Given the description of an element on the screen output the (x, y) to click on. 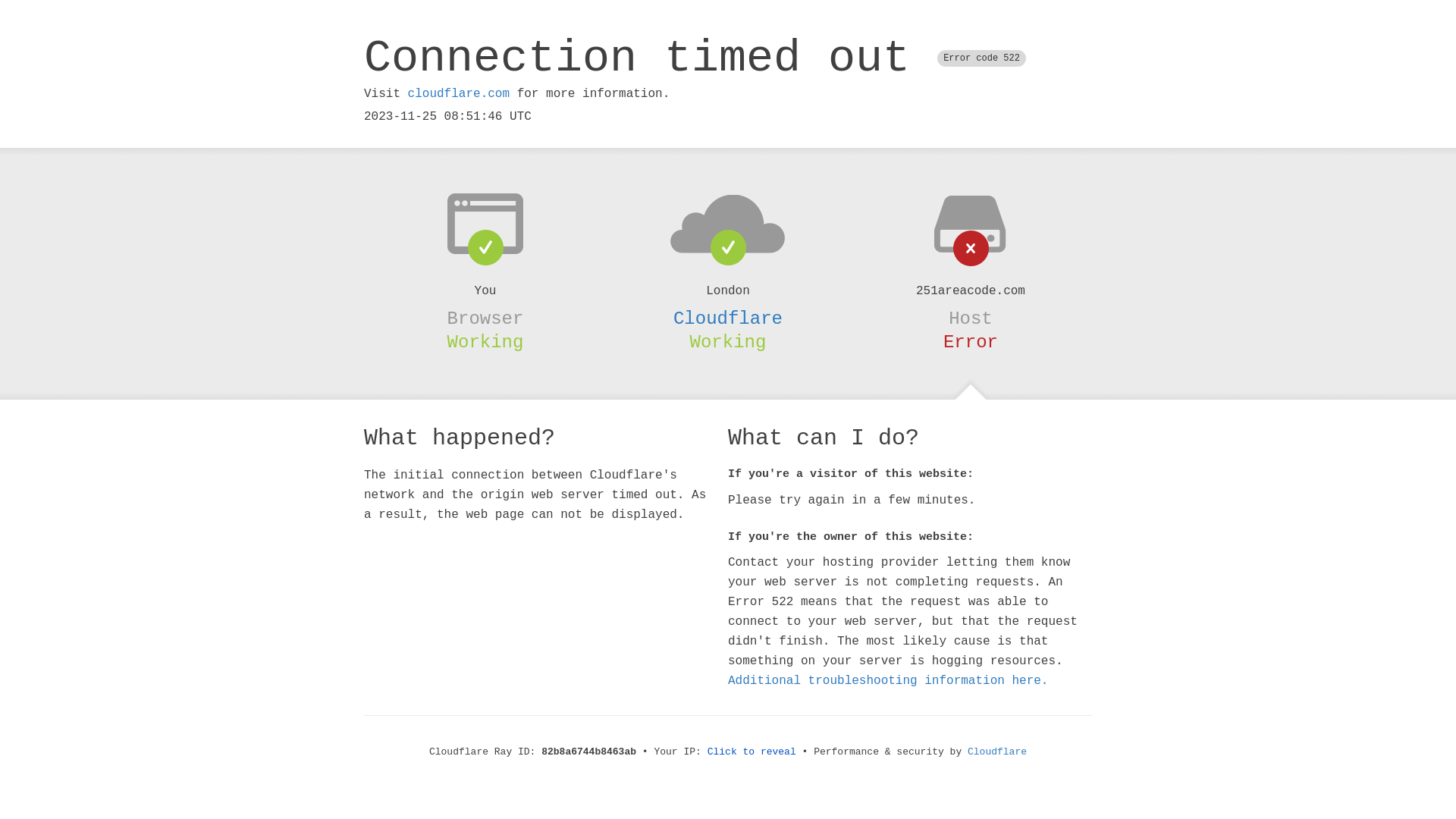
Click to reveal Element type: text (751, 751)
cloudflare.com Element type: text (458, 93)
Cloudflare Element type: text (727, 318)
Cloudflare Element type: text (996, 751)
Additional troubleshooting information here. Element type: text (888, 680)
